Given the description of an element on the screen output the (x, y) to click on. 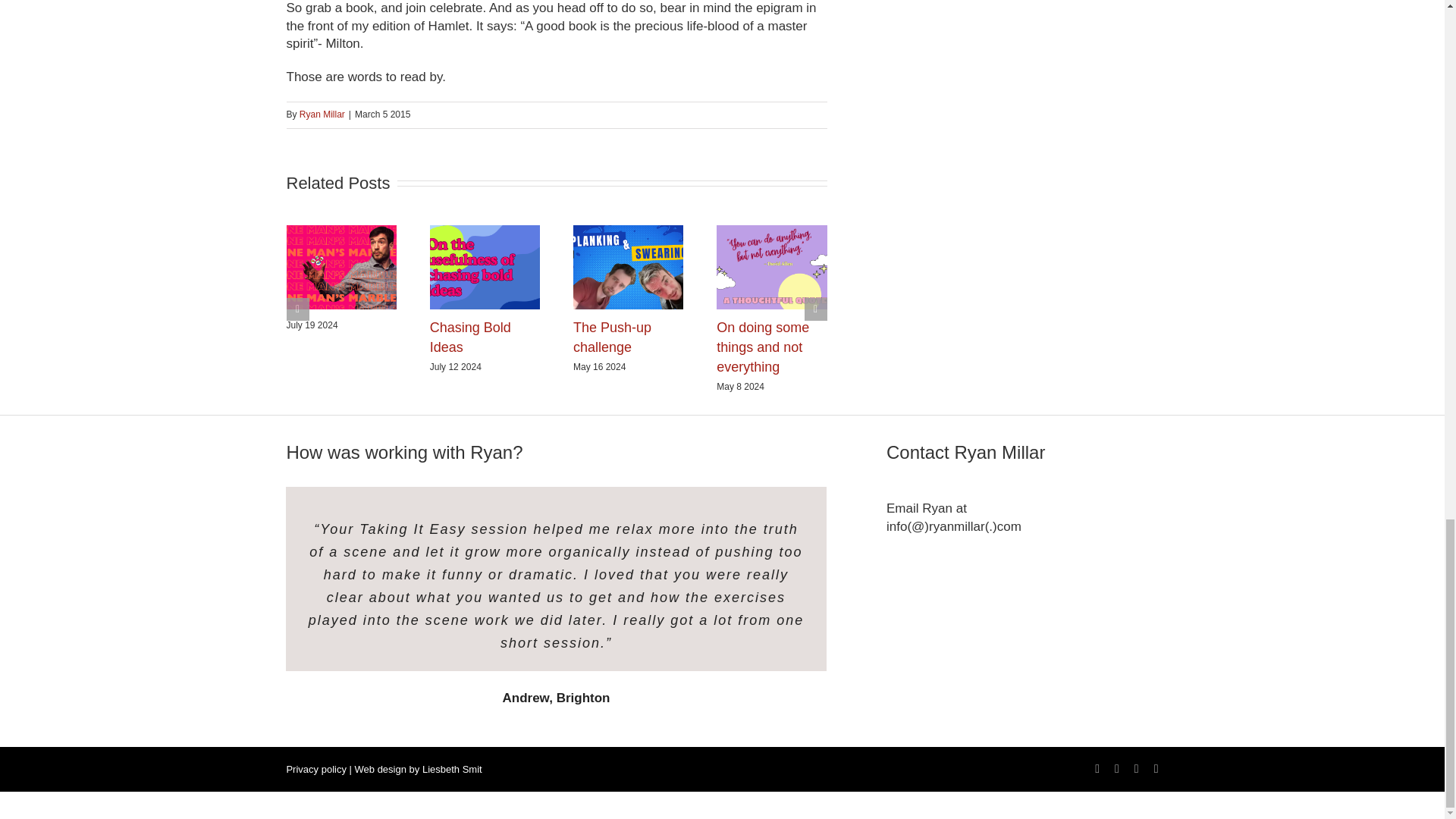
Chasing Bold Ideas (470, 337)
Ryan Millar (322, 113)
The Push-up challenge (611, 337)
Posts by Ryan Millar (322, 113)
Liesbeth Smit - Making Science Sexy (451, 768)
On doing some things and not everything (762, 347)
Chasing Bold Ideas (470, 337)
On doing some things and not everything (762, 347)
The Push-up challenge (611, 337)
